Given the description of an element on the screen output the (x, y) to click on. 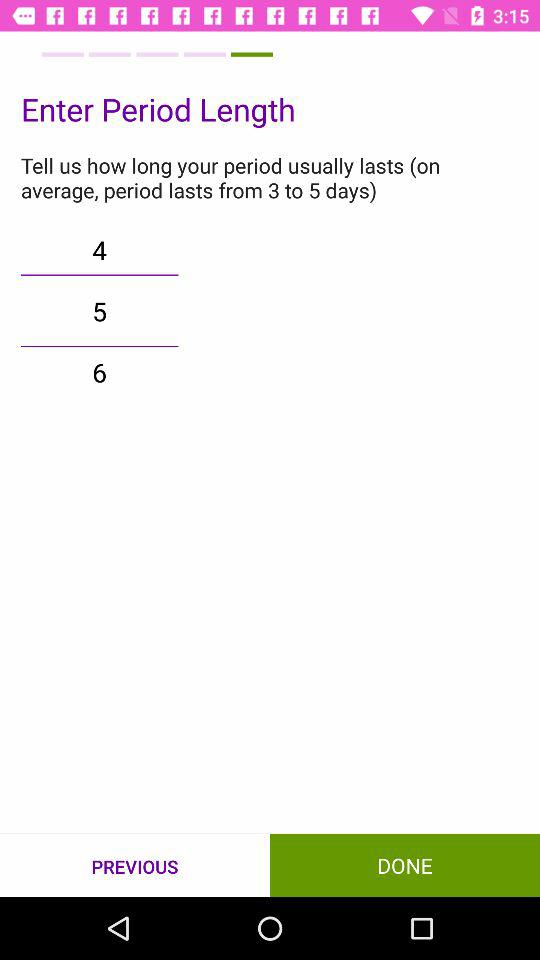
turn off icon next to the previous item (405, 864)
